Given the description of an element on the screen output the (x, y) to click on. 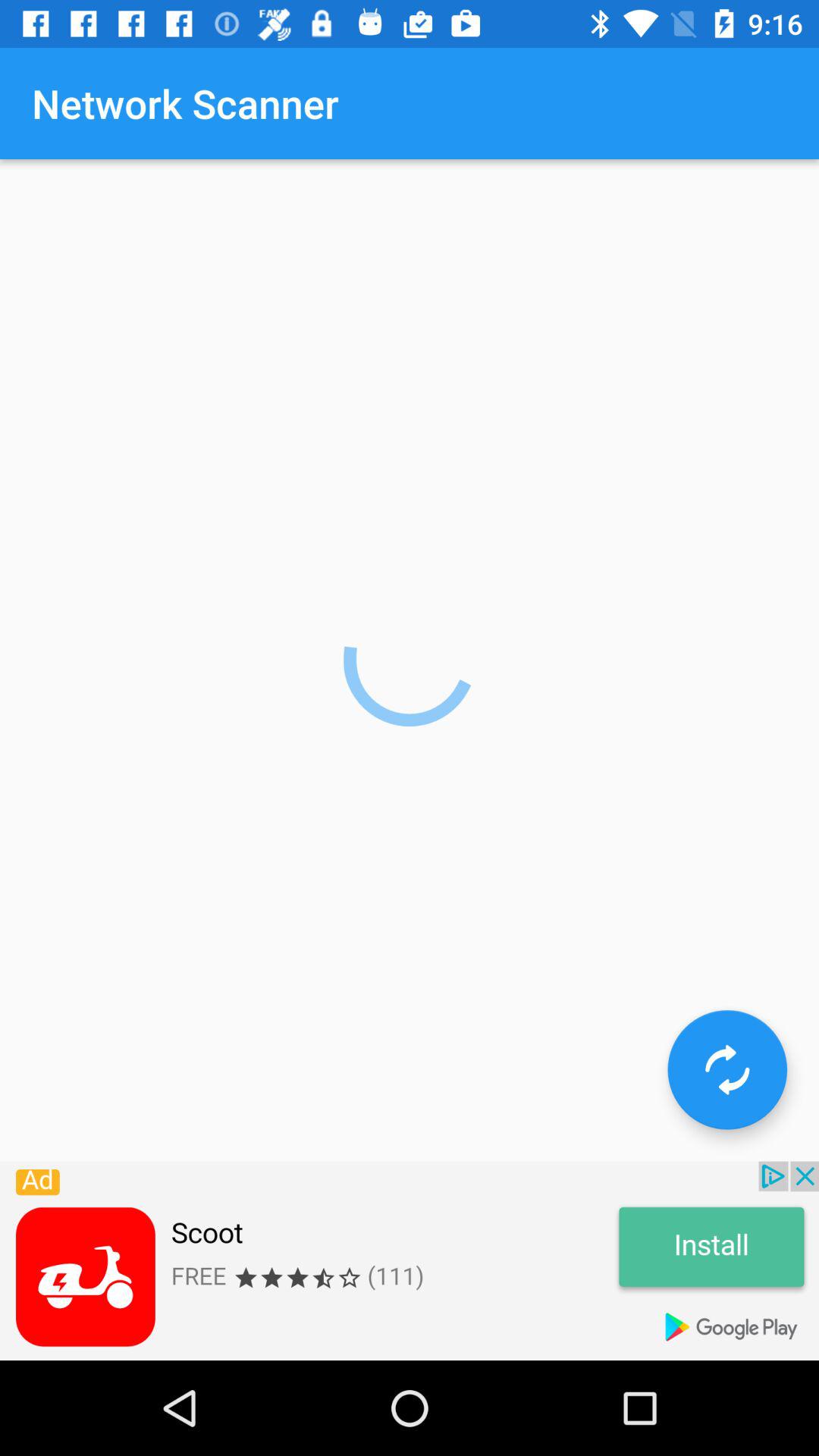
advertisement for google play store app scoot rated 3 1/2 stars clickable install button (409, 1260)
